Given the description of an element on the screen output the (x, y) to click on. 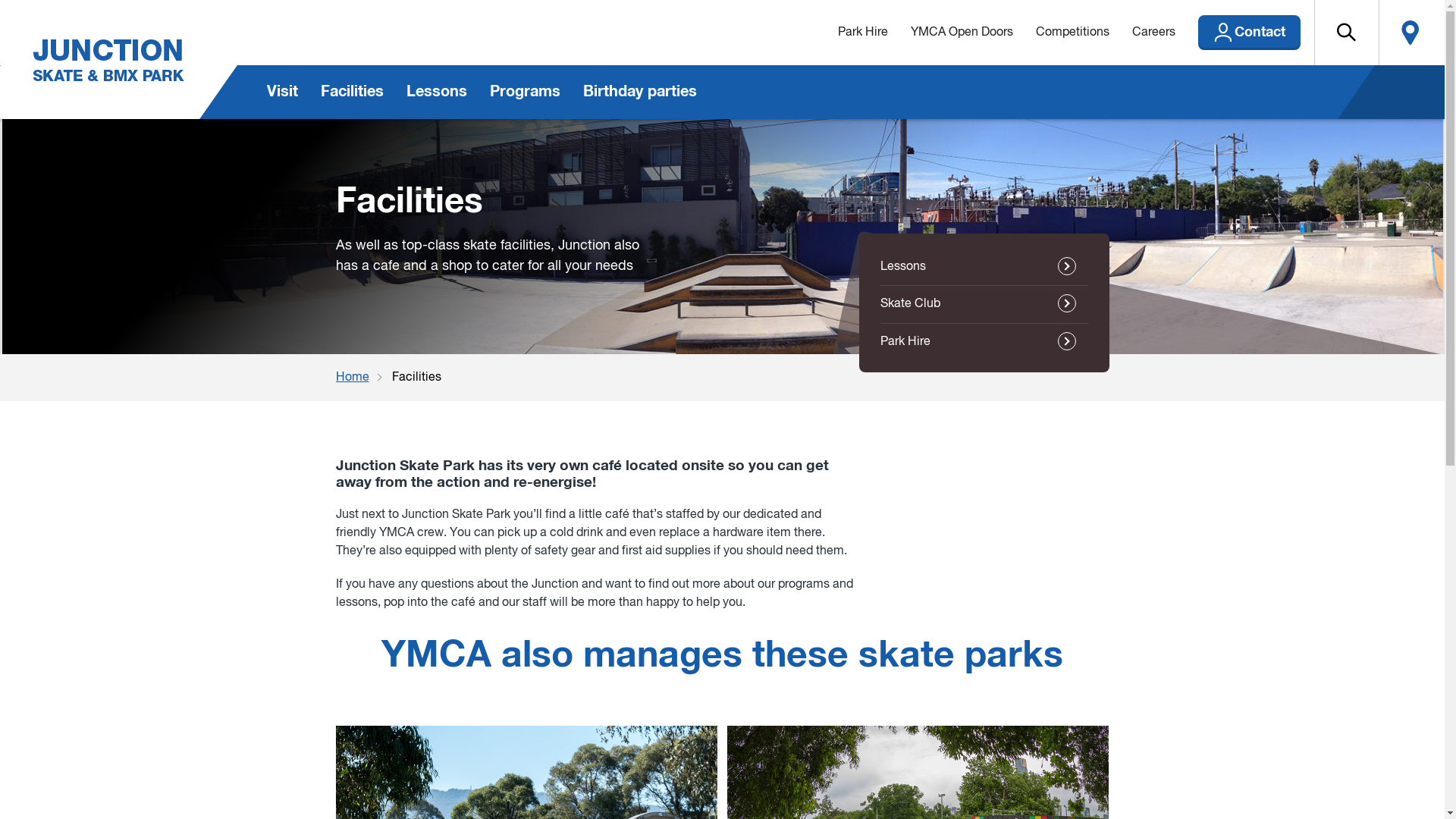
Lessons Element type: text (435, 92)
Skate Club Element type: text (983, 303)
Competitions Element type: text (1071, 32)
Programs Element type: text (524, 92)
Lessons Element type: text (983, 266)
Facilities Element type: text (352, 92)
Locate Element type: text (1410, 32)
Visit Element type: text (281, 92)
Park Hire Element type: text (862, 32)
YMCA Open Doors Element type: text (961, 32)
Park Hire Element type: text (983, 341)
Home Element type: text (363, 377)
Birthday parties Element type: text (639, 92)
Contact Element type: text (1249, 32)
Careers Element type: text (1153, 32)
